Given the description of an element on the screen output the (x, y) to click on. 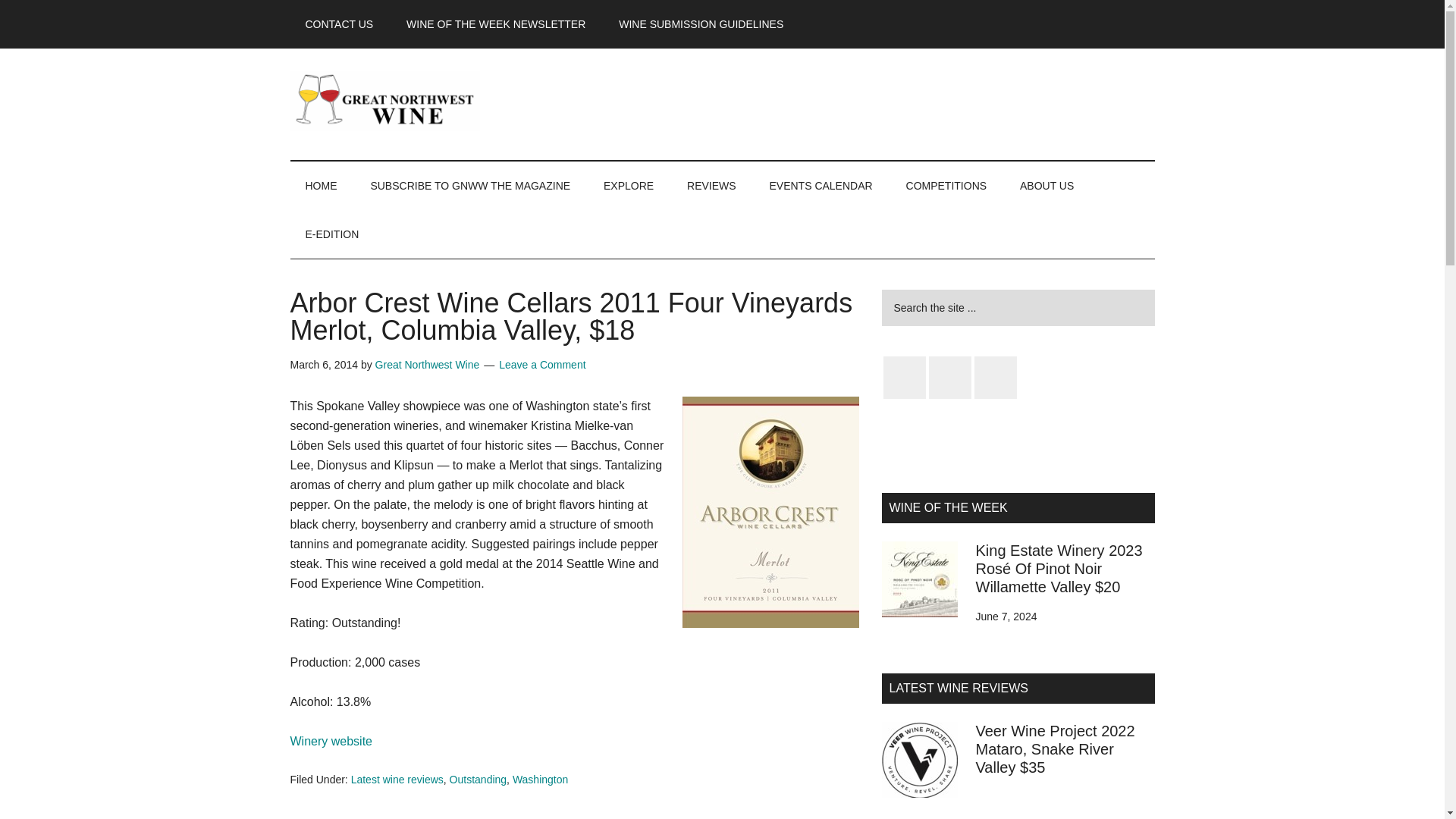
Arbor Crest Wine Cellars (330, 740)
REVIEWS (711, 185)
CONTACT US (338, 24)
SUBSCRIBE TO GNWW THE MAGAZINE (470, 185)
EVENTS CALENDAR (820, 185)
EXPLORE (628, 185)
WINE SUBMISSION GUIDELINES (700, 24)
COMPETITIONS (947, 185)
HOME (320, 185)
WINE OF THE WEEK NEWSLETTER (495, 24)
